Given the description of an element on the screen output the (x, y) to click on. 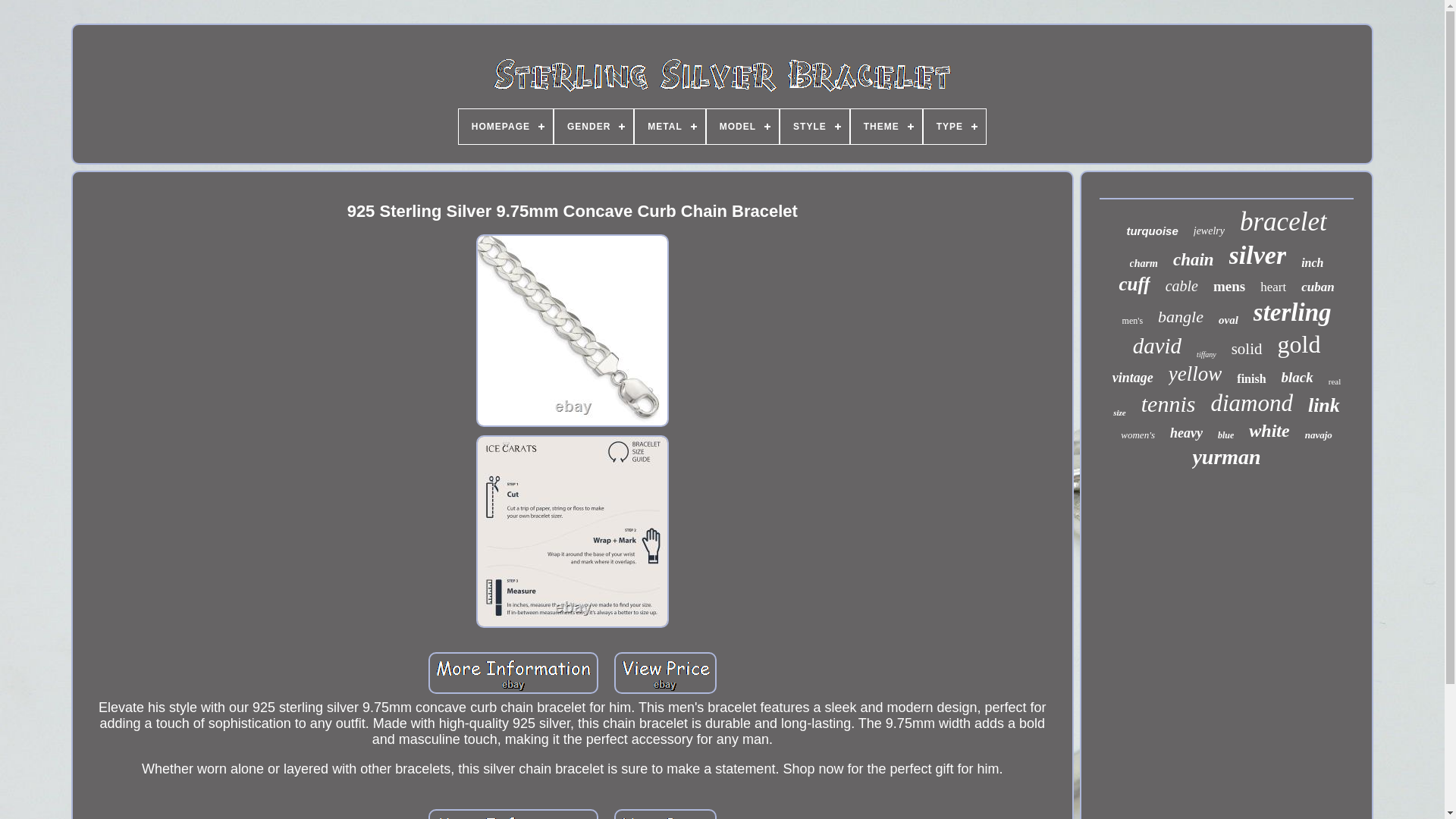
METAL (669, 126)
925 Sterling Silver 9.75mm Concave Curb Chain Bracelet (572, 531)
925 Sterling Silver 9.75mm Concave Curb Chain Bracelet (572, 330)
925 Sterling Silver 9.75mm Concave Curb Chain Bracelet (513, 672)
GENDER (593, 126)
925 Sterling Silver 9.75mm Concave Curb Chain Bracelet (513, 814)
925 Sterling Silver 9.75mm Concave Curb Chain Bracelet (665, 672)
925 Sterling Silver 9.75mm Concave Curb Chain Bracelet (665, 814)
HOMEPAGE (505, 126)
